Given the description of an element on the screen output the (x, y) to click on. 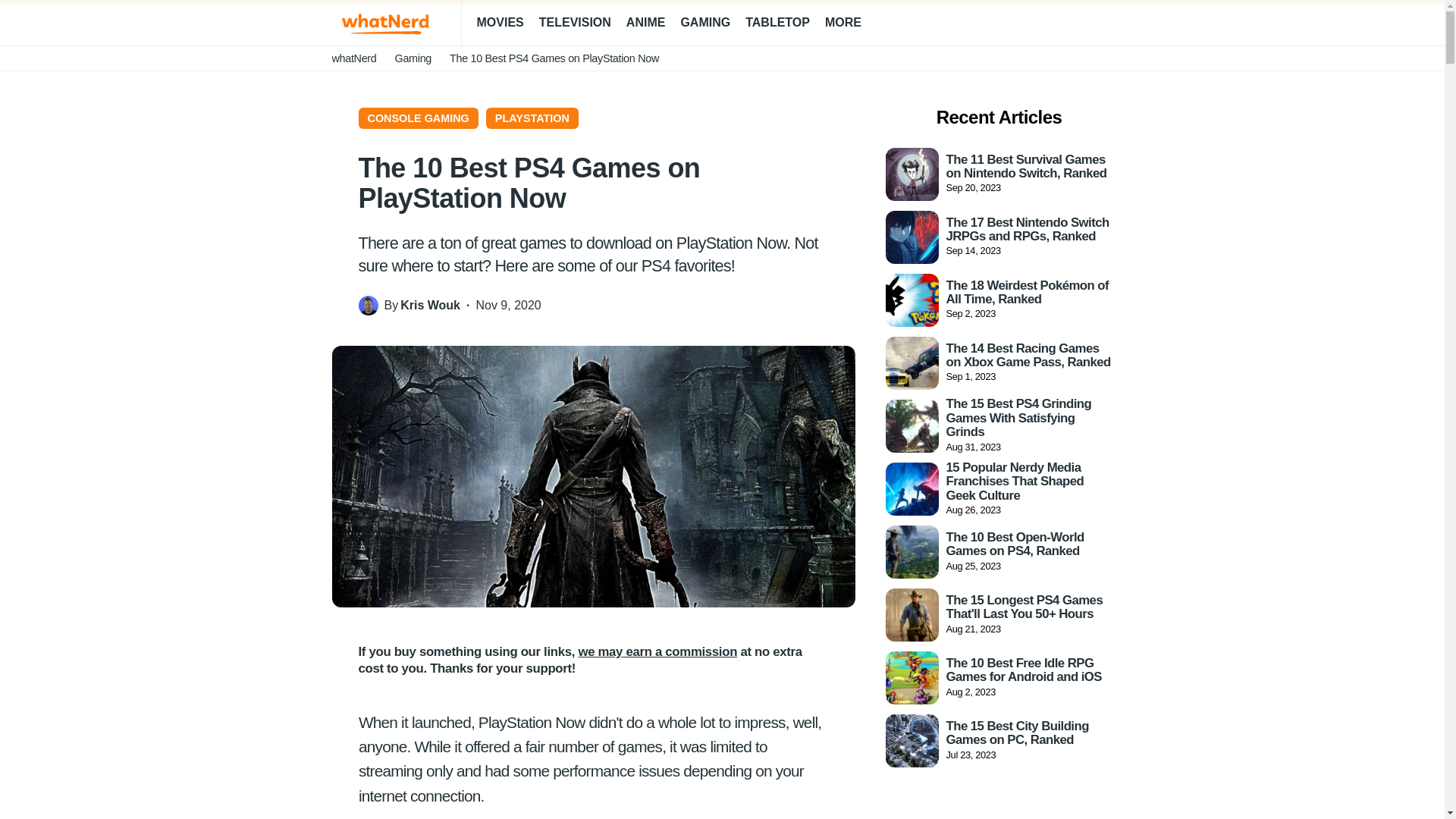
TABLETOP (777, 22)
TELEVISION (574, 22)
MORE (850, 22)
GAMING (704, 22)
MOVIES (499, 22)
whatNerd (354, 57)
View all posts by Kris Wouk (430, 305)
ANIME (645, 22)
